Given the description of an element on the screen output the (x, y) to click on. 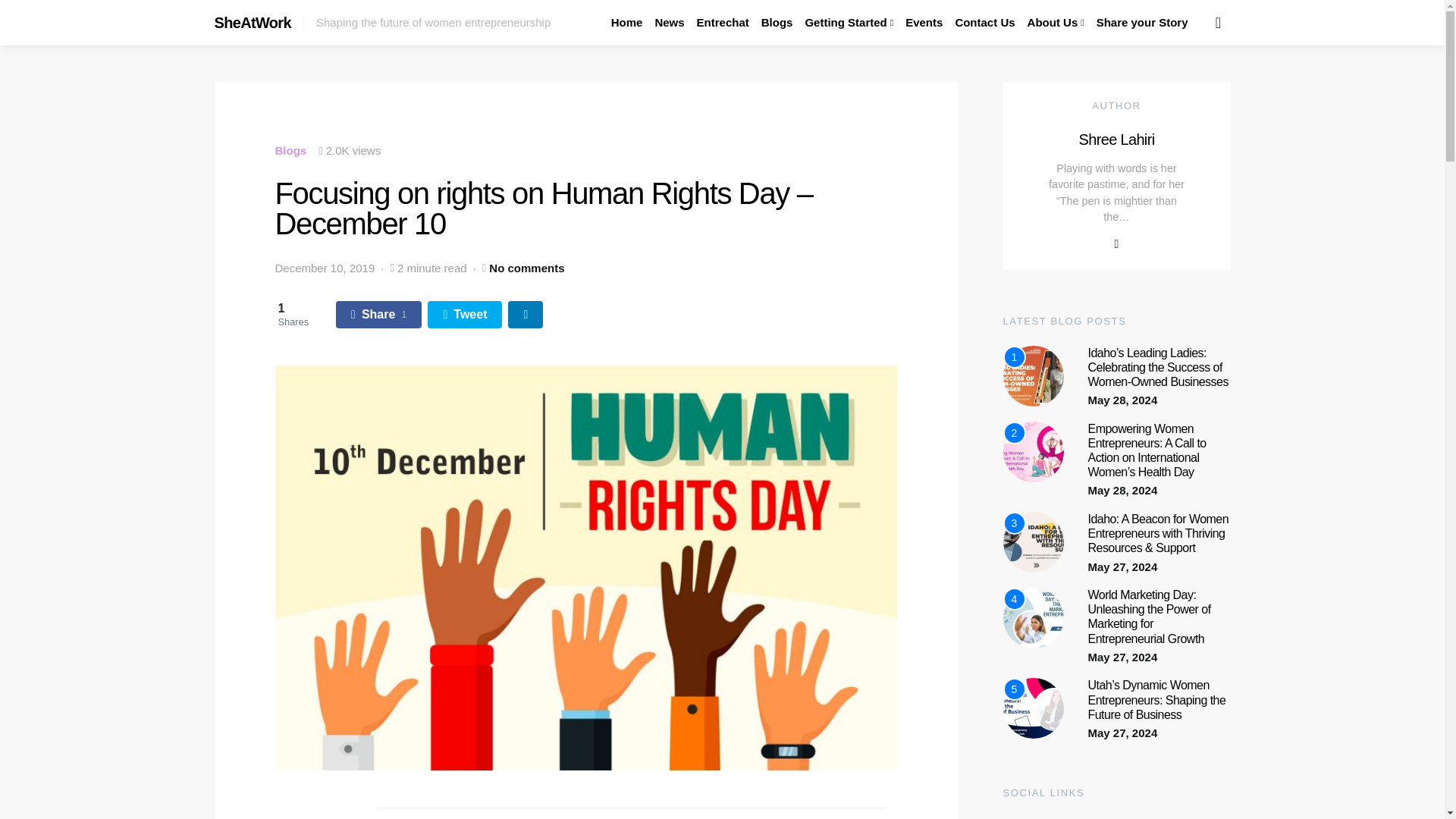
News (668, 22)
About Us (1056, 22)
Events (924, 22)
Getting Started (848, 22)
Blogs (777, 22)
Home (627, 22)
Blogs (290, 150)
SheAtWork (251, 22)
Entrechat (722, 22)
Share your Story (1141, 22)
No comments (526, 268)
Contact Us (984, 22)
